Given the description of an element on the screen output the (x, y) to click on. 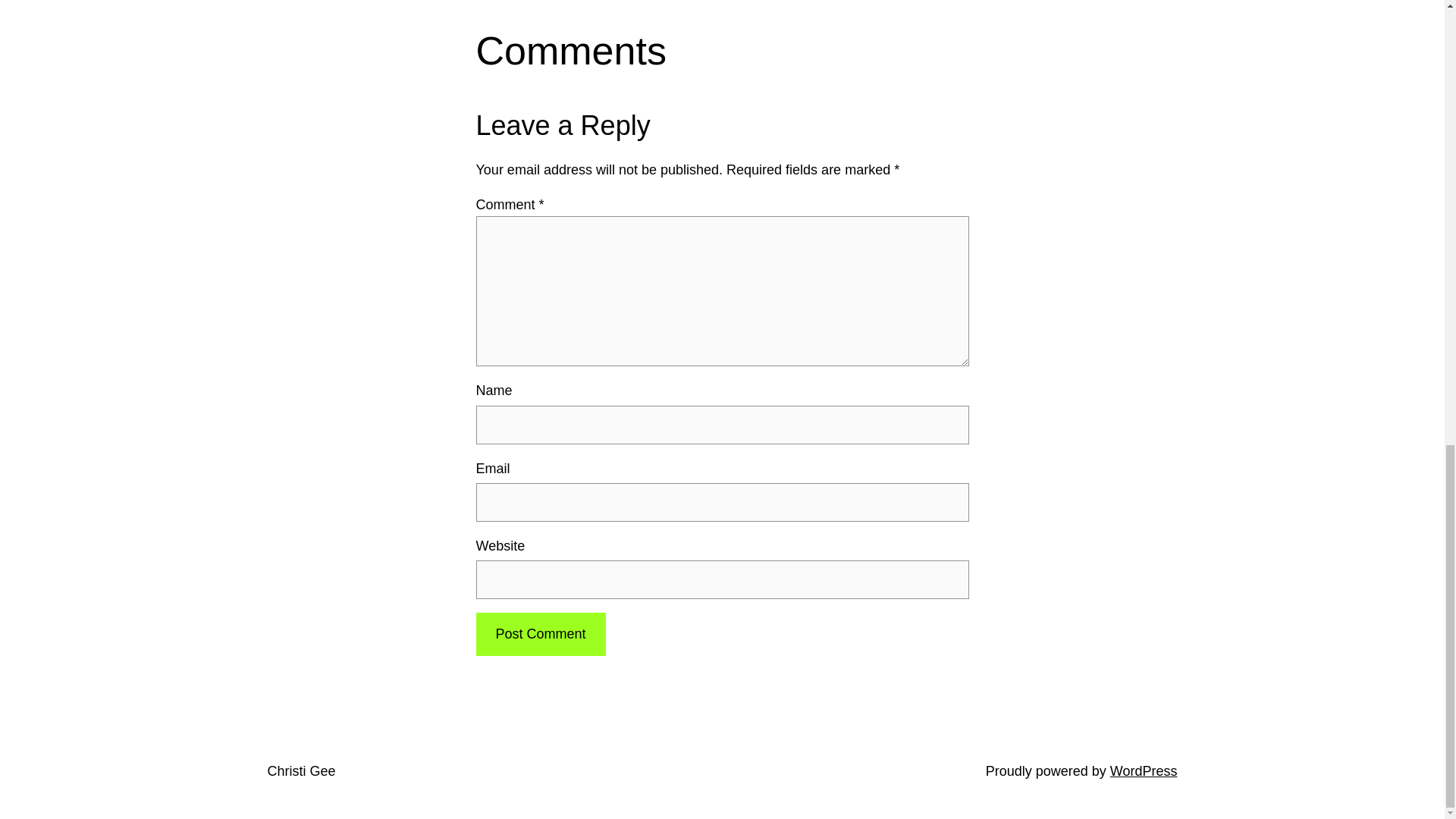
Post Comment (540, 634)
Christi Gee (300, 770)
WordPress (1143, 770)
Post Comment (540, 634)
